Given the description of an element on the screen output the (x, y) to click on. 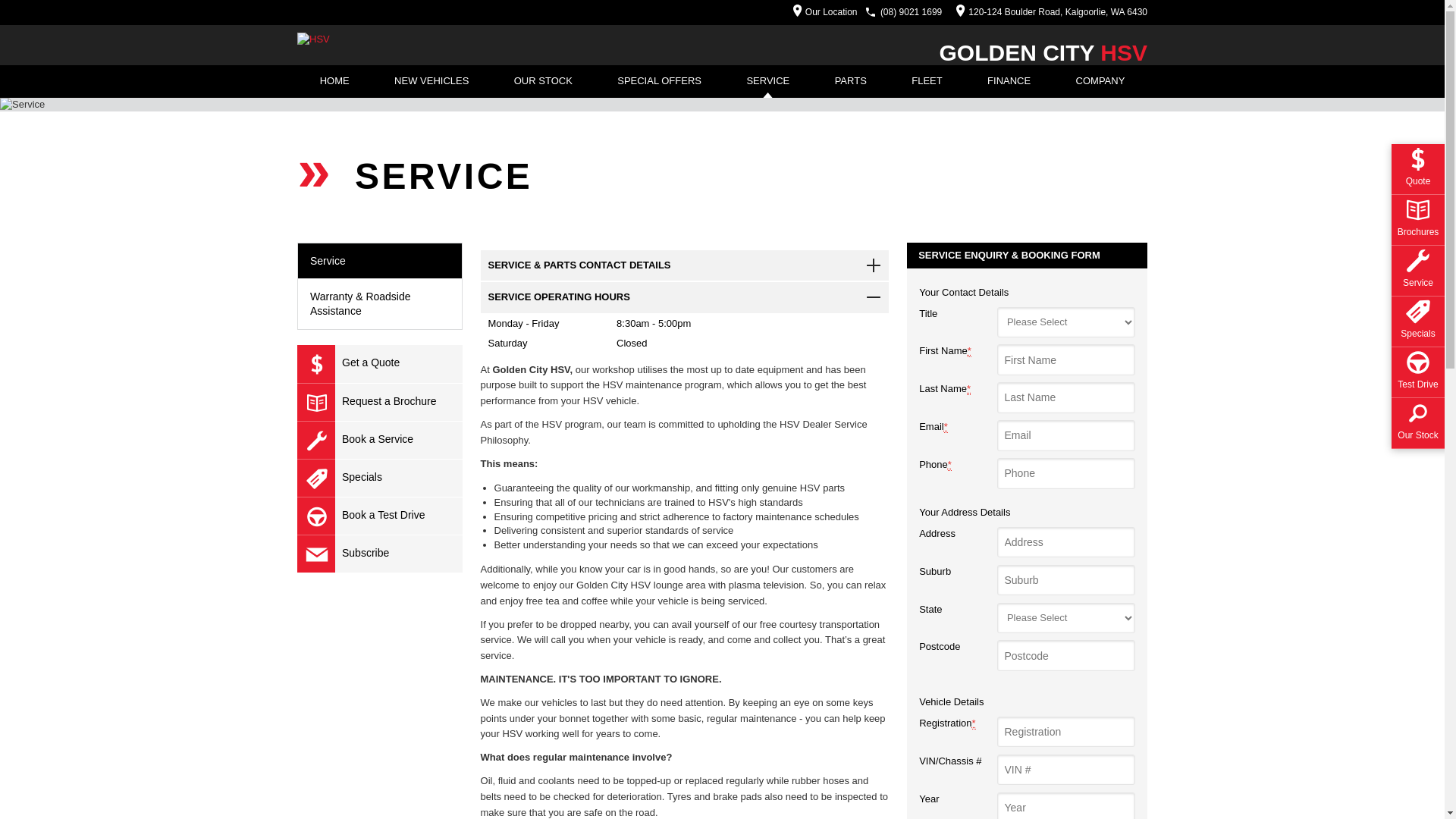
Specials Element type: text (379, 477)
Book a Test Drive Element type: text (379, 515)
HOME Element type: text (334, 81)
Warranty & Roadside Assistance Element type: text (379, 303)
(08) 9021 1699 Element type: text (910, 11)
SERVICE & PARTS CONTACT DETAILS Element type: text (684, 265)
PARTS Element type: text (850, 81)
SPECIAL OFFERS Element type: text (659, 81)
COMPANY Element type: text (1100, 81)
GOLDEN CITY HSV Element type: text (1042, 52)
Service Element type: text (379, 261)
Get a Quote Element type: text (379, 363)
Our Location Element type: text (820, 11)
FINANCE Element type: text (1008, 81)
120-124 Boulder Road, Kalgoorlie, WA 6430 Element type: text (1047, 11)
SERVICE OPERATING HOURS Element type: text (684, 297)
SERVICE Element type: text (768, 81)
OUR STOCK Element type: text (542, 81)
Book a Service Element type: text (379, 439)
FLEET Element type: text (927, 81)
Subscribe Element type: text (379, 553)
Request a Brochure Element type: text (379, 401)
NEW VEHICLES Element type: text (431, 81)
